Given the description of an element on the screen output the (x, y) to click on. 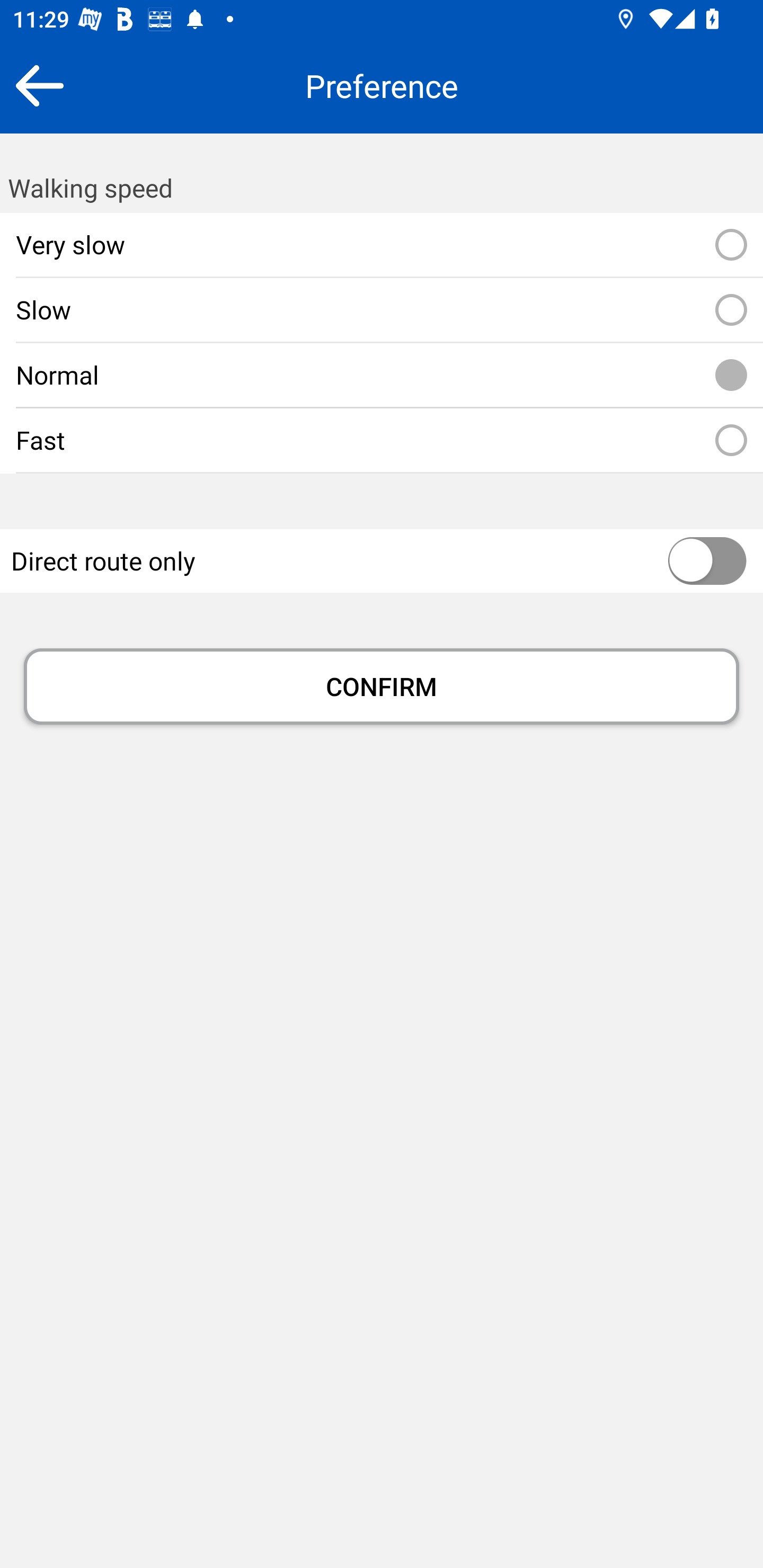
Back (39, 85)
Very slow (730, 244)
Slow (730, 310)
Normal (730, 374)
Fast (730, 440)
Direct route only (668, 560)
CONFIRM (381, 686)
